Given the description of an element on the screen output the (x, y) to click on. 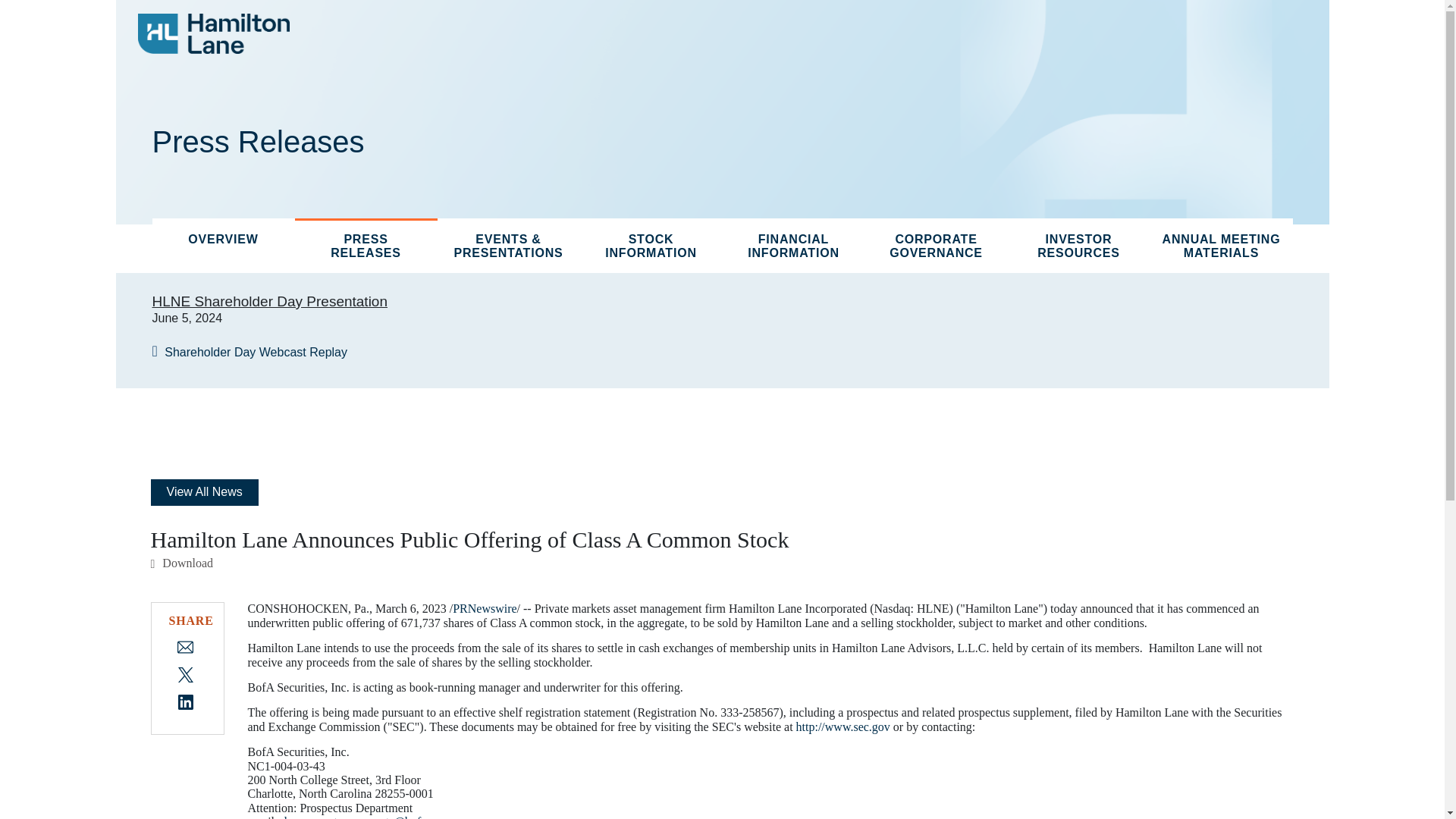
ANNUAL MEETING MATERIALS (1221, 245)
OVERVIEW (222, 238)
FINANCIAL INFORMATION (793, 245)
Linkedin Share (184, 700)
INVESTOR RESOURCES (1078, 245)
Twitter Share (184, 673)
PRESS RELEASES (365, 245)
STOCK INFORMATION (650, 245)
CORPORATE GOVERNANCE (935, 245)
Email the URL of this page to a friend (185, 645)
